Given the description of an element on the screen output the (x, y) to click on. 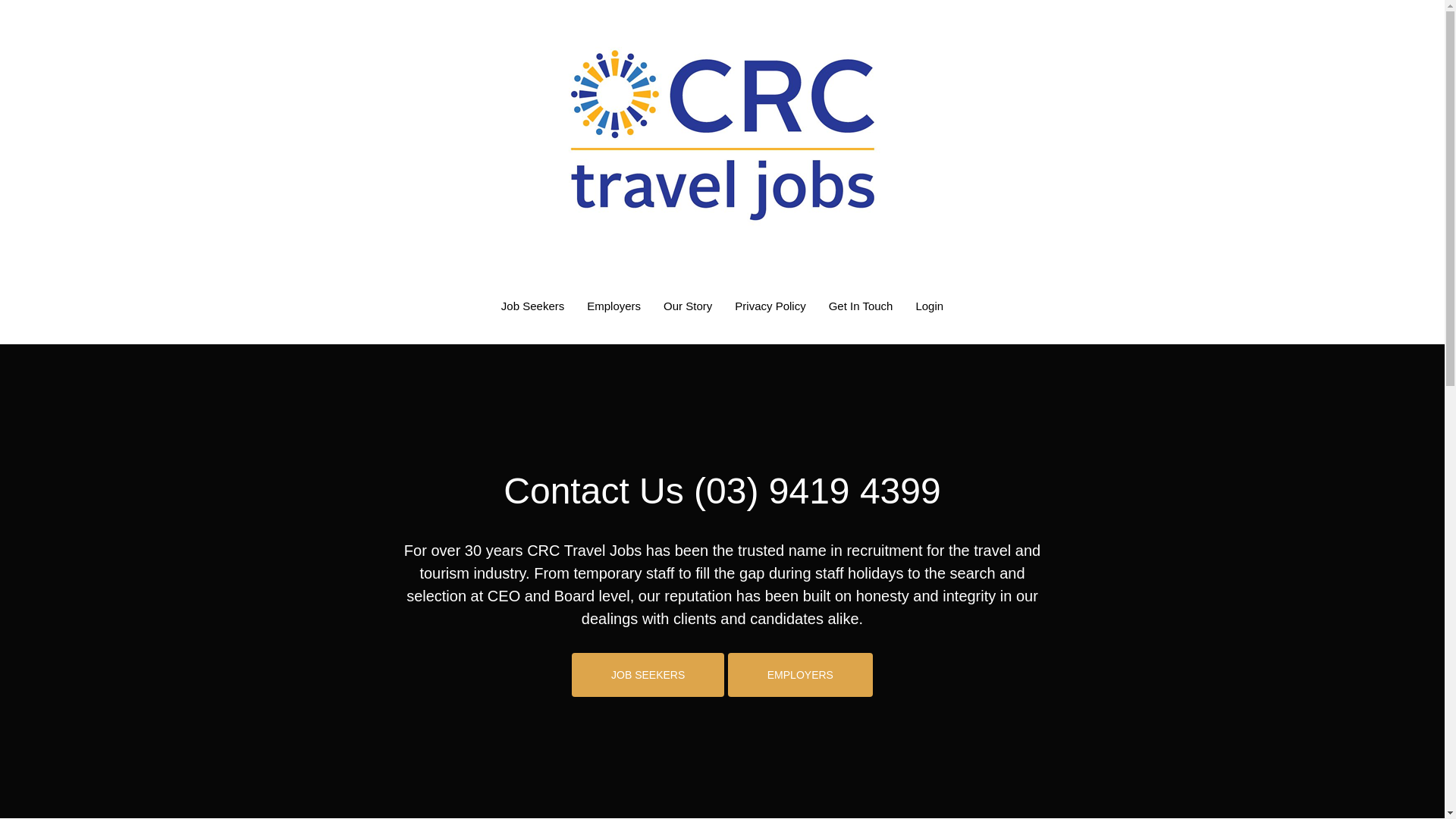
Privacy Policy Element type: text (769, 306)
Job Seekers Element type: text (532, 306)
Get In Touch Element type: text (860, 306)
Our Story Element type: text (687, 306)
Login Element type: text (928, 306)
EMPLOYERS Element type: text (800, 674)
JOB SEEKERS Element type: text (647, 674)
Employers Element type: text (613, 306)
